Given the description of an element on the screen output the (x, y) to click on. 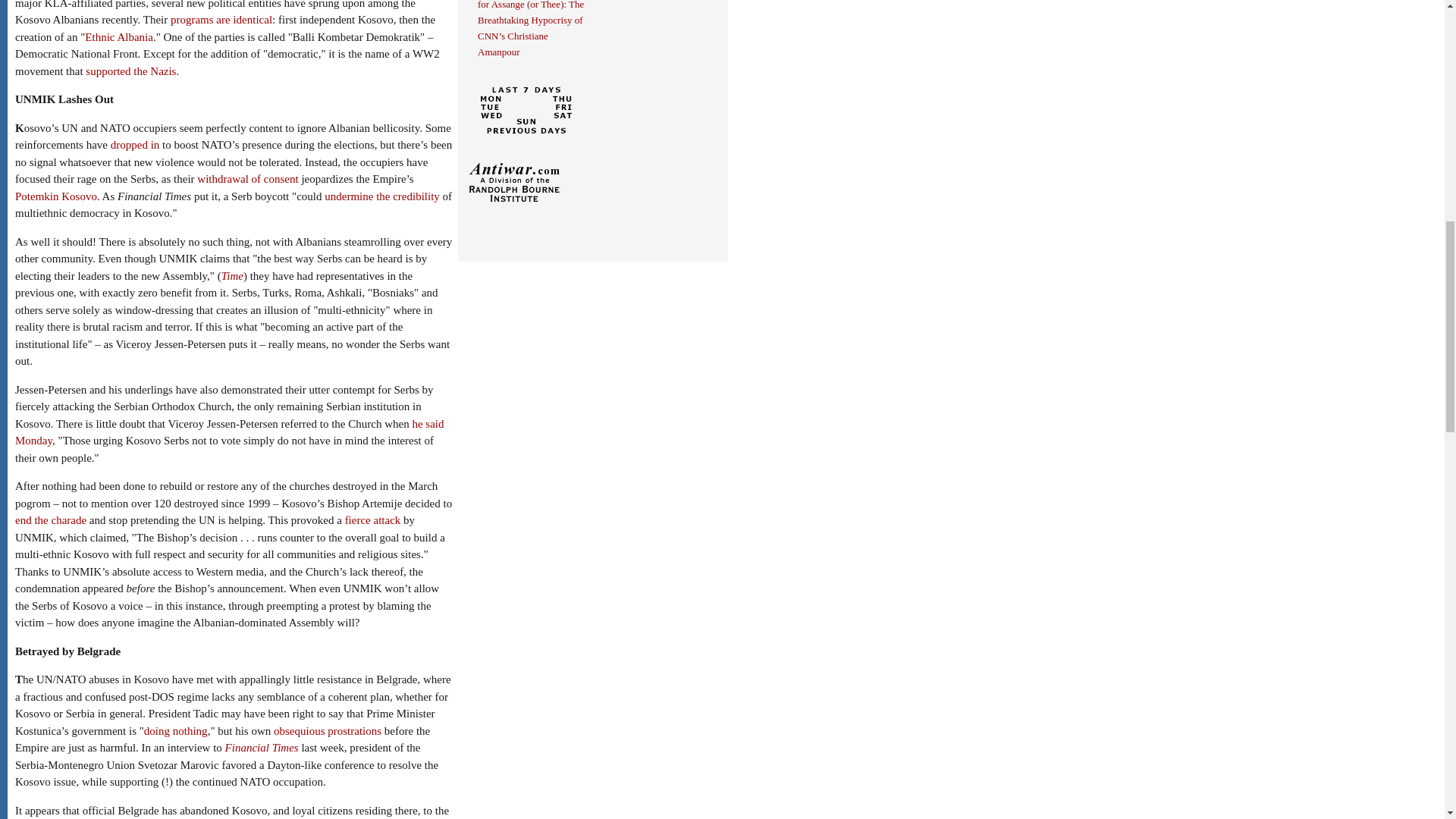
dropped in (135, 144)
programs are identical (221, 19)
withdrawal of consent (247, 178)
undermine the credibility (381, 196)
Ethnic Albania (118, 37)
Potemkin Kosovo (55, 196)
supported the Nazis (130, 70)
